Given the description of an element on the screen output the (x, y) to click on. 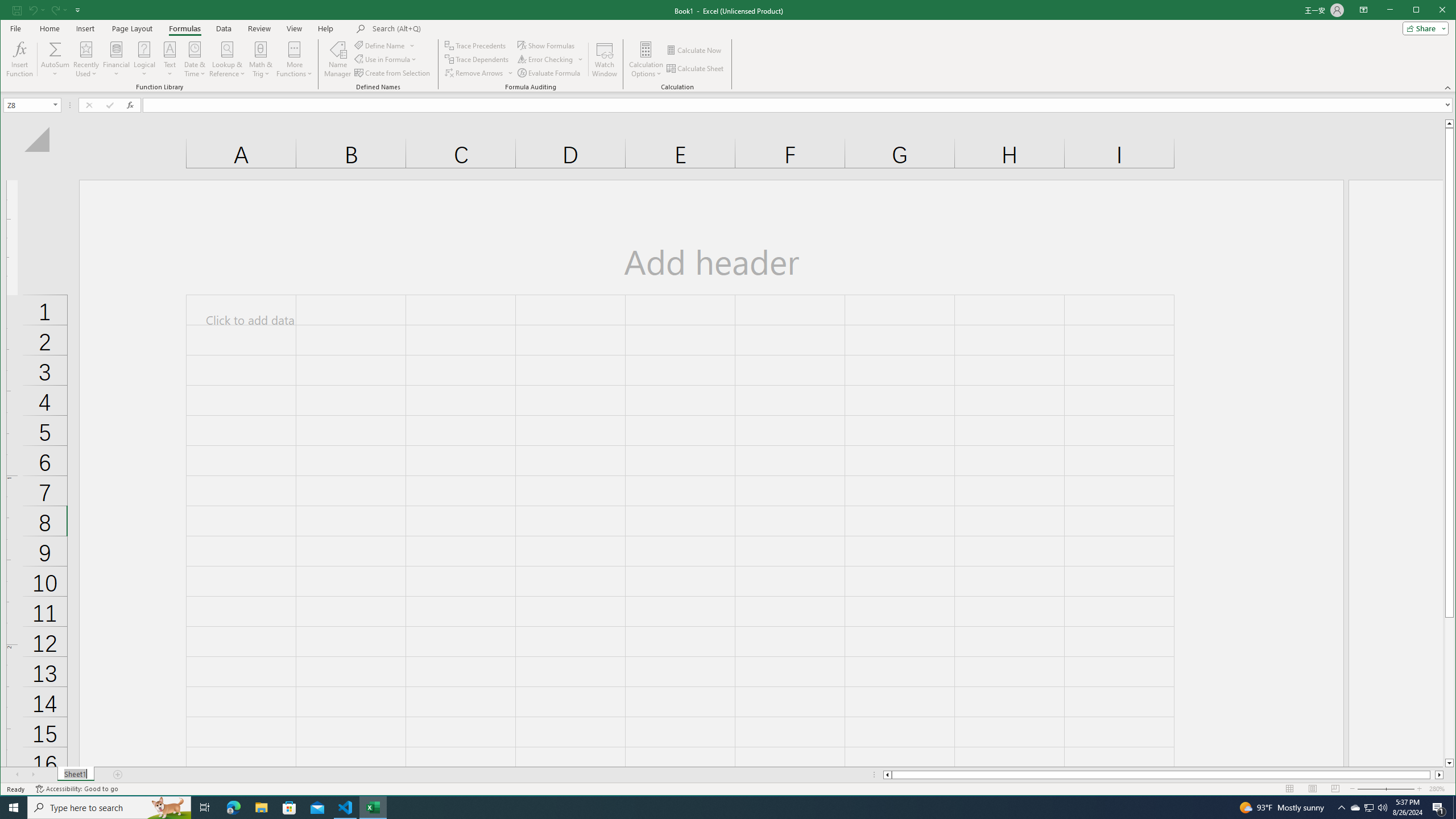
Use in Formula (386, 59)
Action Center, 1 new notification (1439, 807)
Lookup & Reference (227, 59)
